Given the description of an element on the screen output the (x, y) to click on. 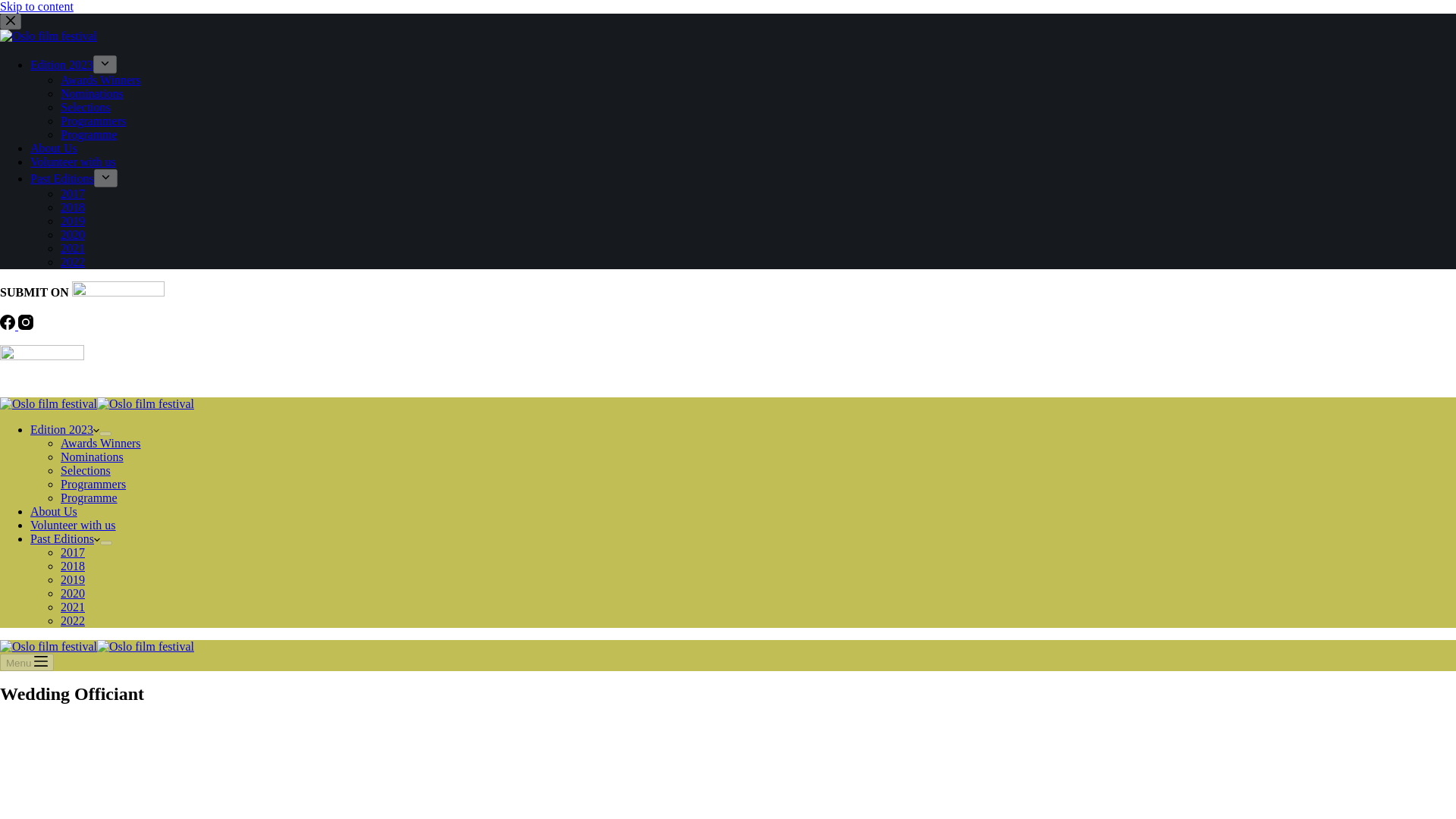
Programmers (93, 120)
Nominations (92, 456)
2019 (72, 579)
About Us (53, 147)
2020 (72, 234)
Past Editions (65, 538)
2020 (72, 593)
2021 (72, 247)
Nominations (92, 92)
Selections (85, 106)
